Given the description of an element on the screen output the (x, y) to click on. 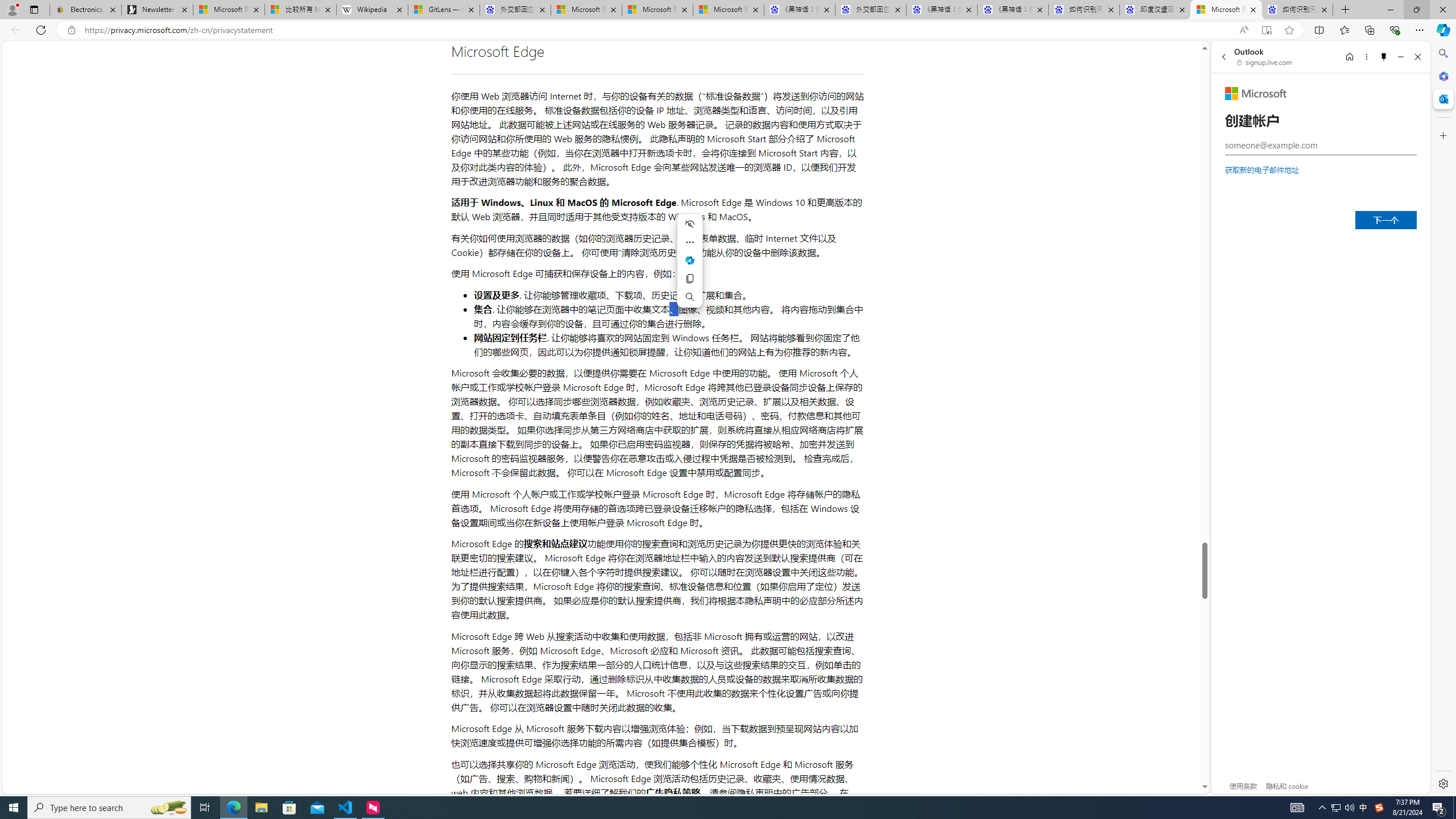
Ask Copilot (689, 260)
